Given the description of an element on the screen output the (x, y) to click on. 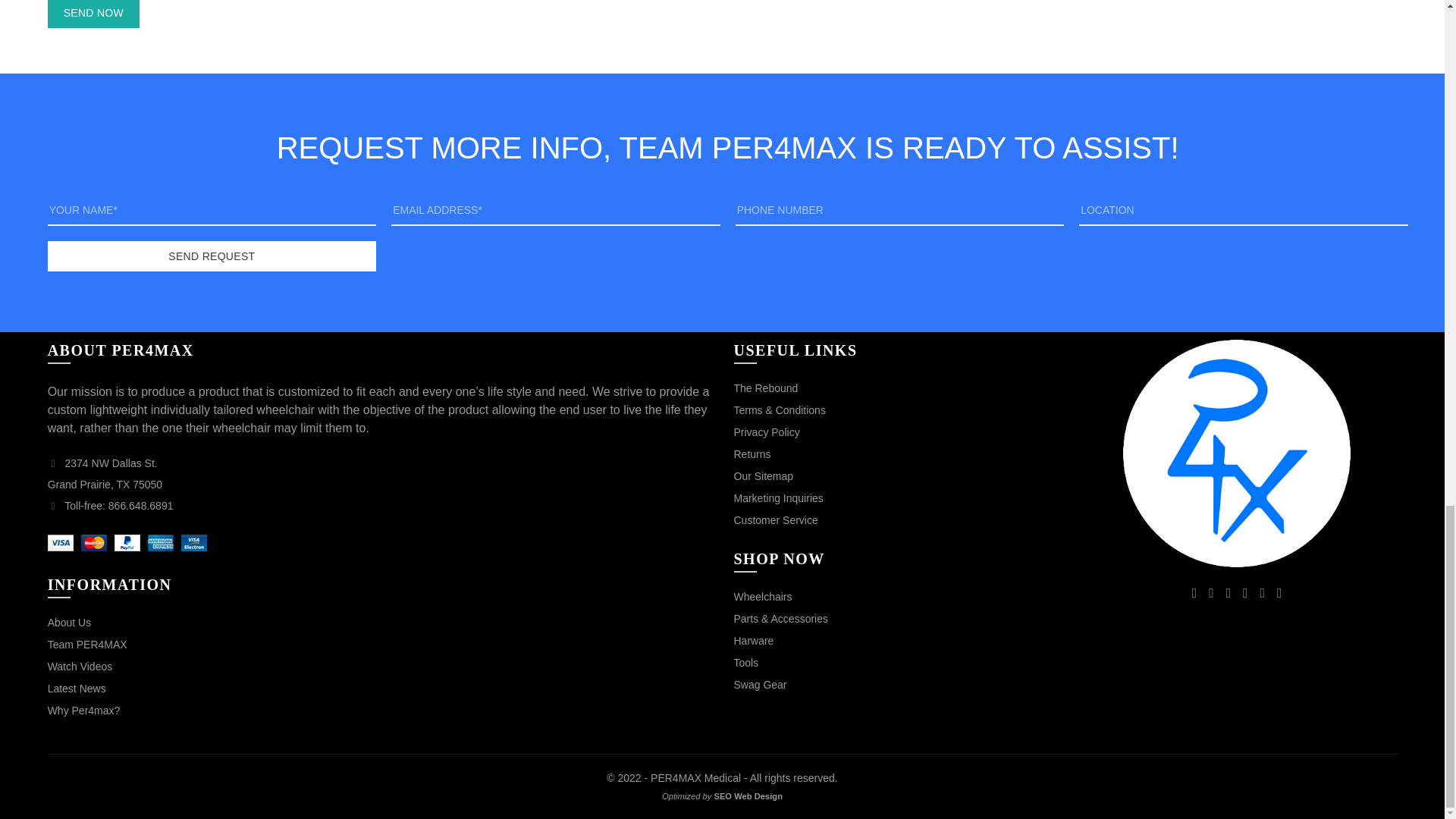
PER4MAX.com (675, 777)
SEND REQUEST (212, 255)
PER4MAX.com (1236, 451)
SEO Web Design, LLC (748, 795)
PER4MAX.com (1236, 453)
SEND NOW (93, 13)
